Given the description of an element on the screen output the (x, y) to click on. 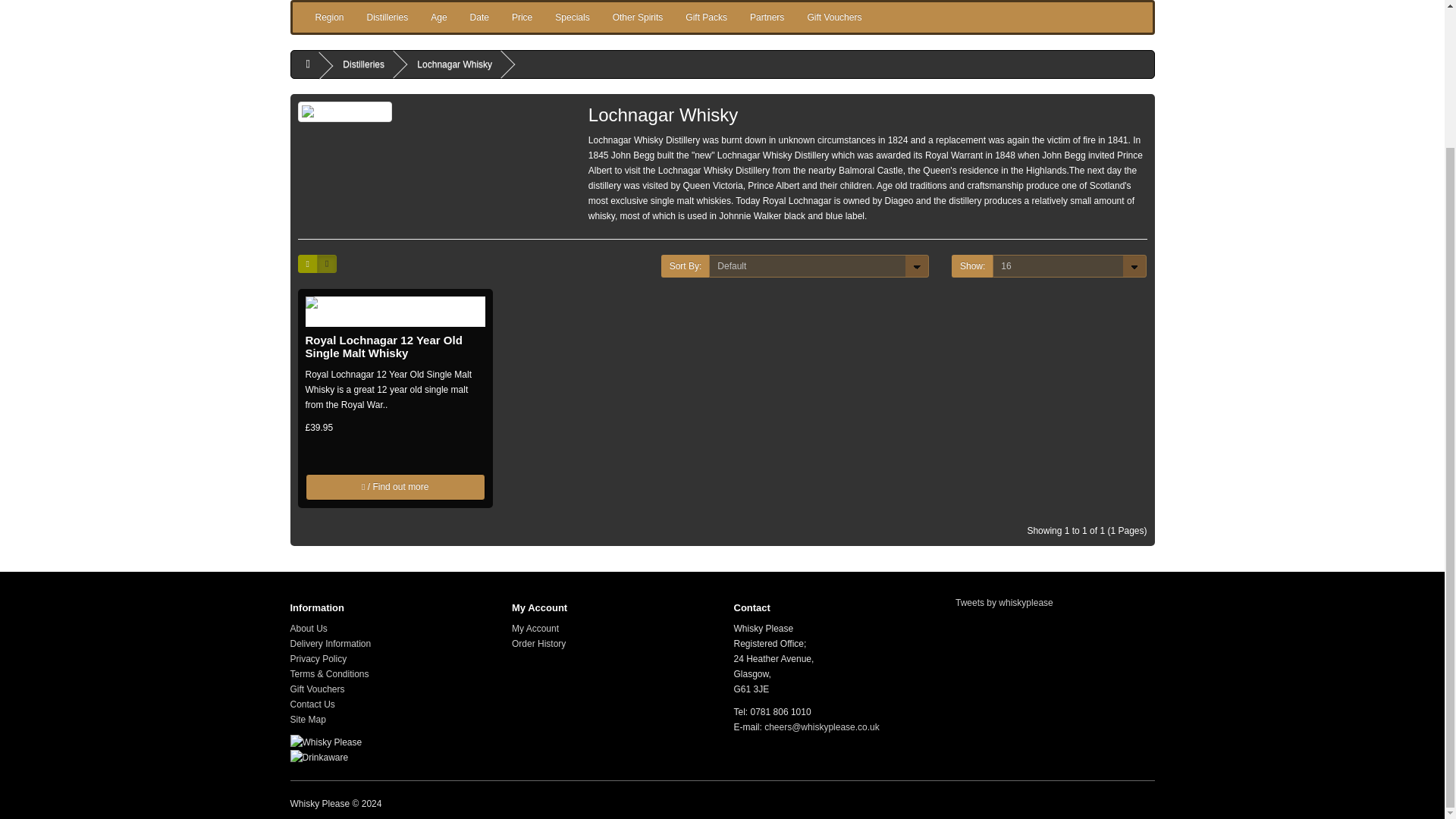
Royal Lochnagar 12 Year Old Single Malt Whisky (394, 311)
Region (328, 17)
Distilleries (387, 17)
Lochnagar Whisky (344, 111)
